Given the description of an element on the screen output the (x, y) to click on. 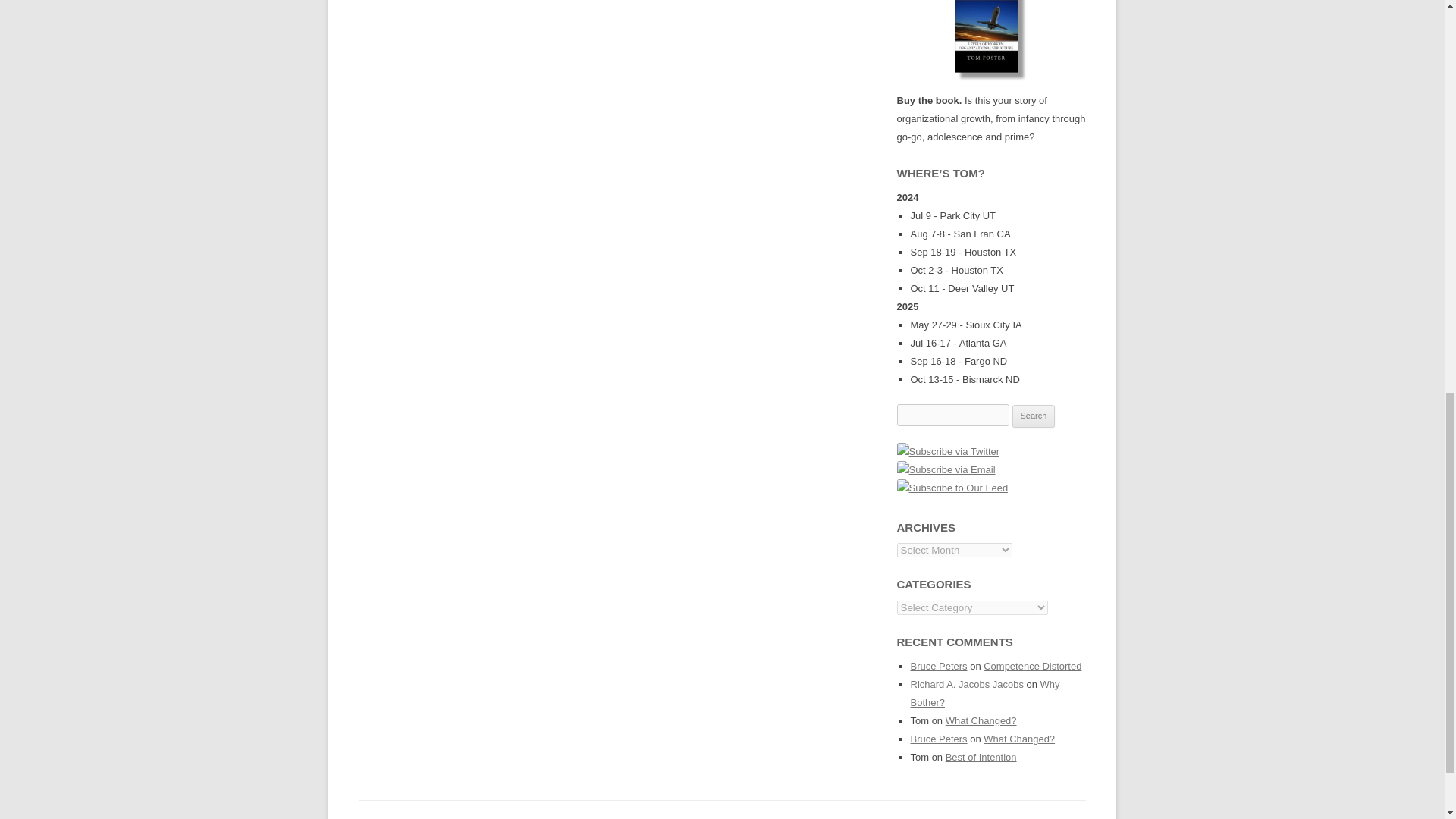
Richard A. Jacobs Jacobs (966, 684)
Bruce Peters (938, 665)
Why Bother? (984, 693)
Search (1033, 415)
Bruce Peters (938, 738)
What Changed? (980, 720)
Competence Distorted (1032, 665)
Search (1033, 415)
